Given the description of an element on the screen output the (x, y) to click on. 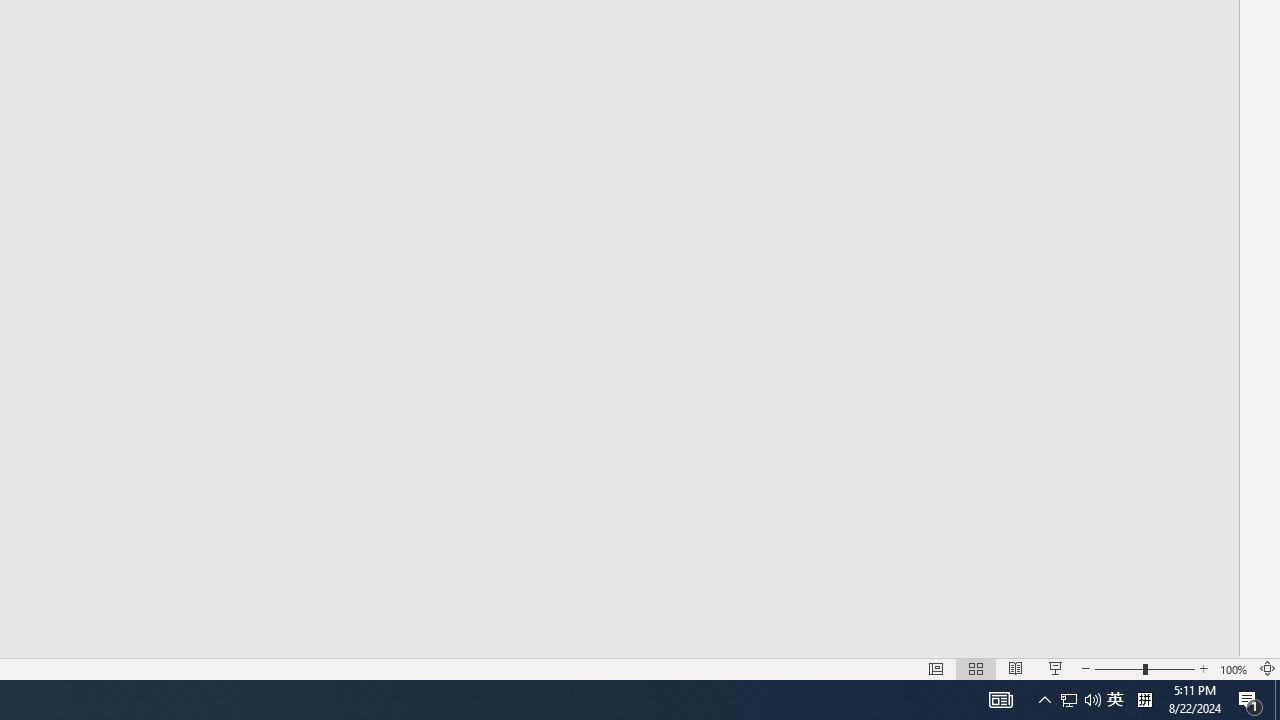
Zoom 100% (1234, 668)
